Given the description of an element on the screen output the (x, y) to click on. 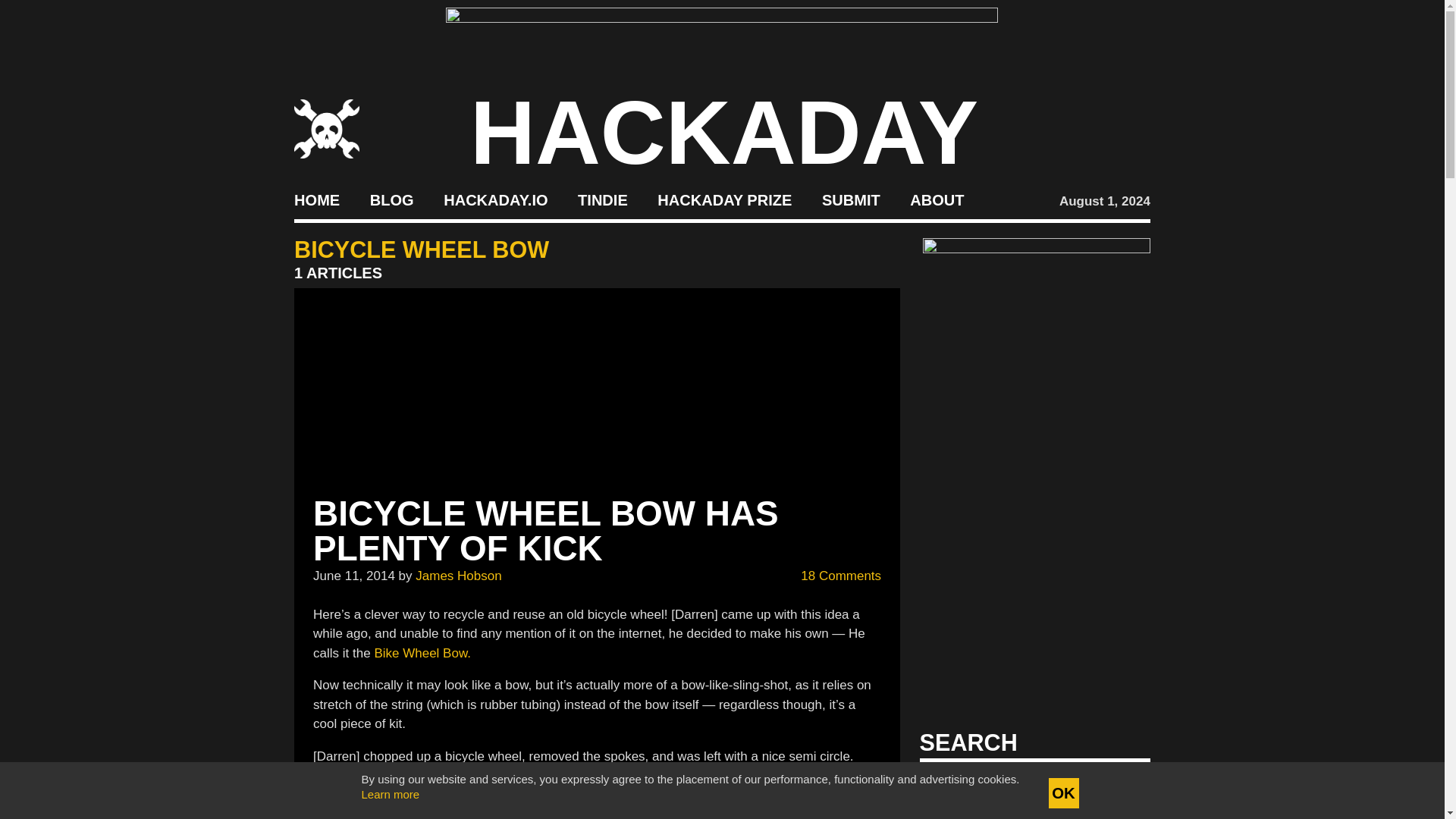
Posts by James Hobson (457, 575)
BICYCLE WHEEL BOW HAS PLENTY OF KICK (545, 530)
18 Comments (832, 575)
SUBMIT (851, 200)
HACKADAY PRIZE (725, 200)
ABOUT (936, 200)
Bike Wheel Bow. (422, 653)
Search (1115, 787)
HOME (316, 200)
BLOG (391, 200)
June 11, 2014 - 1:00 am (353, 575)
HACKADAY (724, 131)
HACKADAY.IO (495, 200)
Build Something that Matters (725, 200)
James Hobson (457, 575)
